Given the description of an element on the screen output the (x, y) to click on. 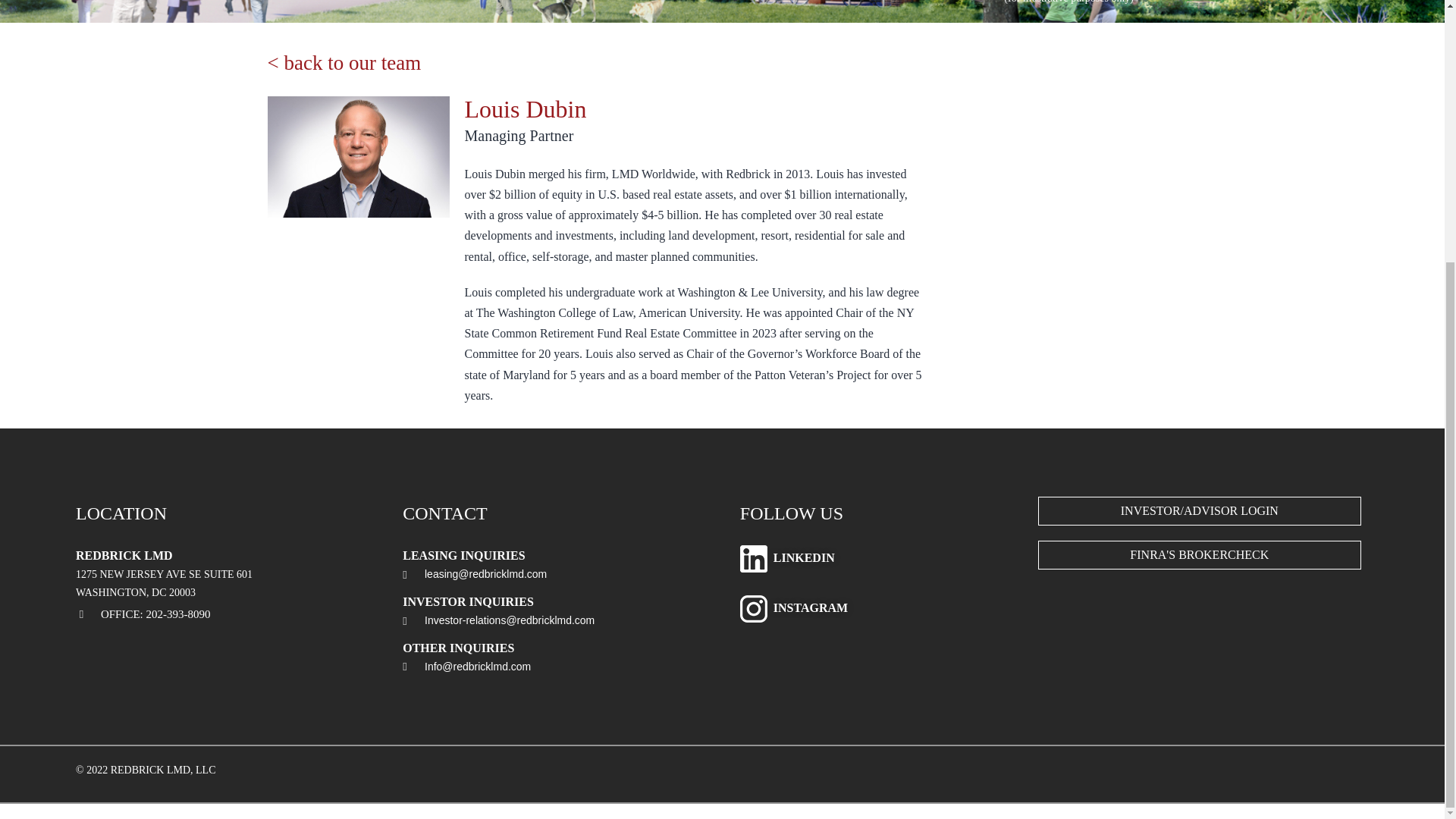
LINKEDIN (803, 558)
FINRA'S BROKERCHECK (1199, 554)
INSTAGRAM (810, 608)
